Given the description of an element on the screen output the (x, y) to click on. 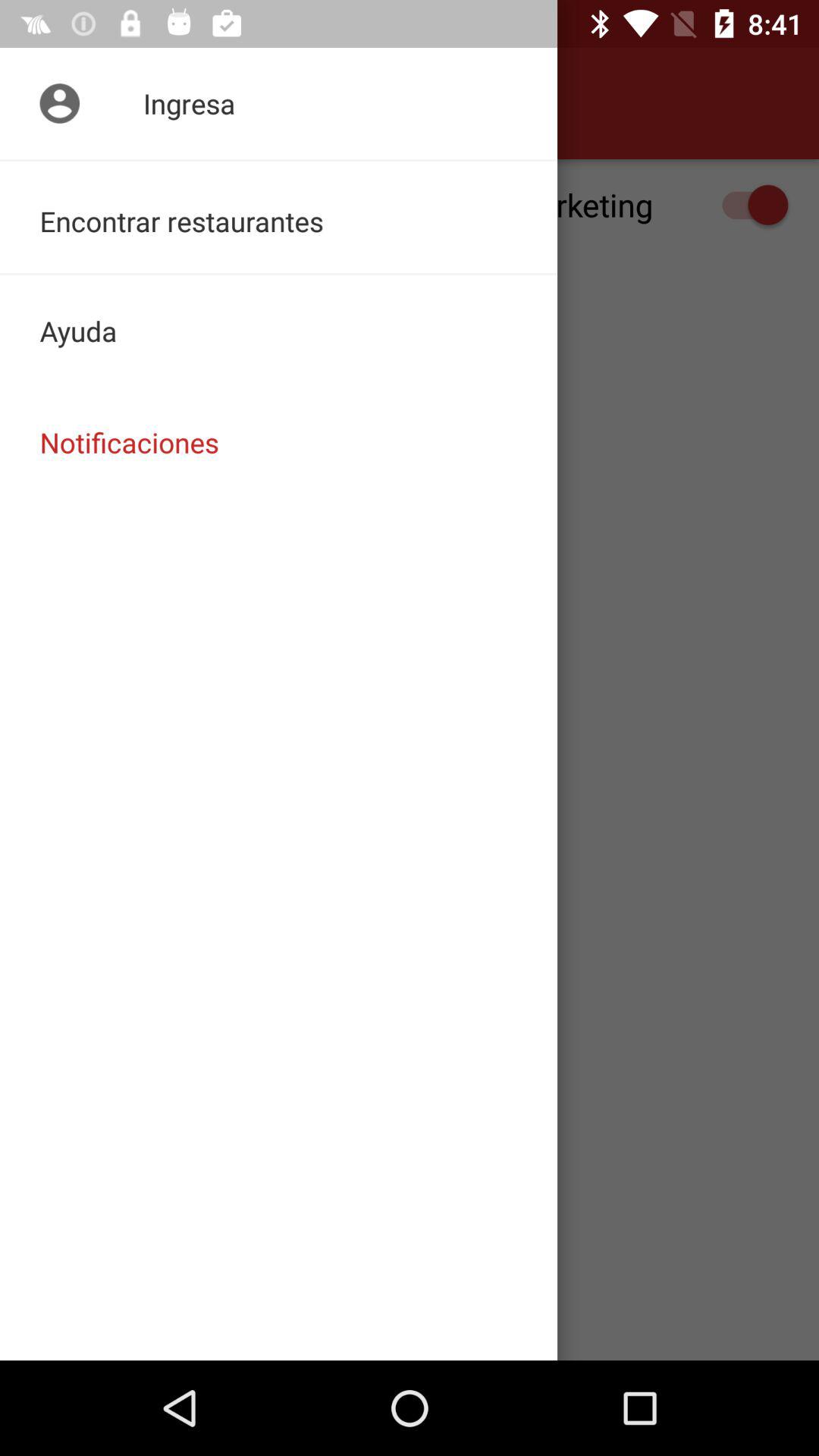
press item above recibir notificaciones de (55, 103)
